Given the description of an element on the screen output the (x, y) to click on. 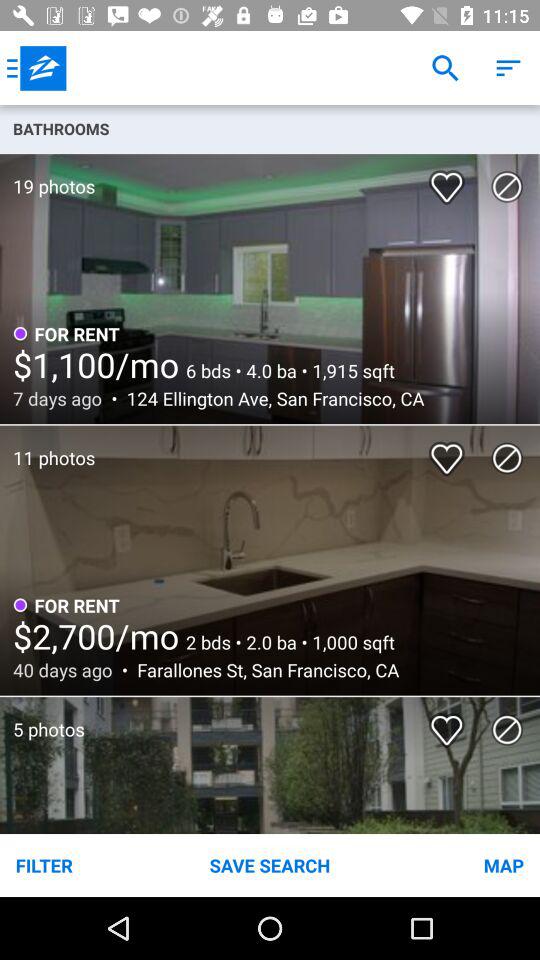
open farallones st san (262, 669)
